Given the description of an element on the screen output the (x, y) to click on. 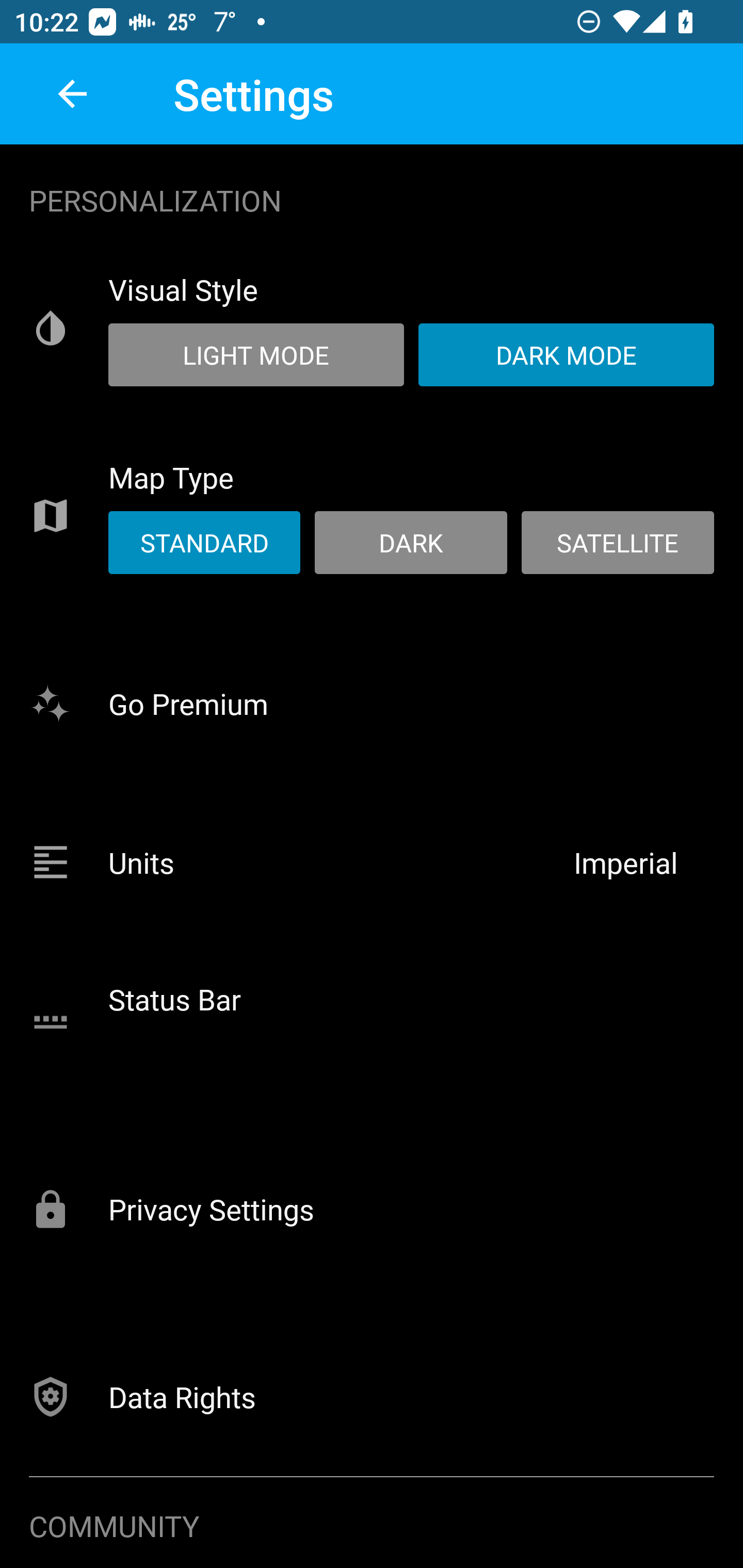
back (71, 93)
LIGHT MODE (256, 354)
DARK MODE (566, 354)
STANDARD (204, 542)
DARK (411, 542)
SATELLITE (617, 542)
Go Premium (371, 703)
Units Imperial (371, 862)
Status Bar (371, 1021)
Privacy Settings (371, 1208)
Data Rights (371, 1396)
